Given the description of an element on the screen output the (x, y) to click on. 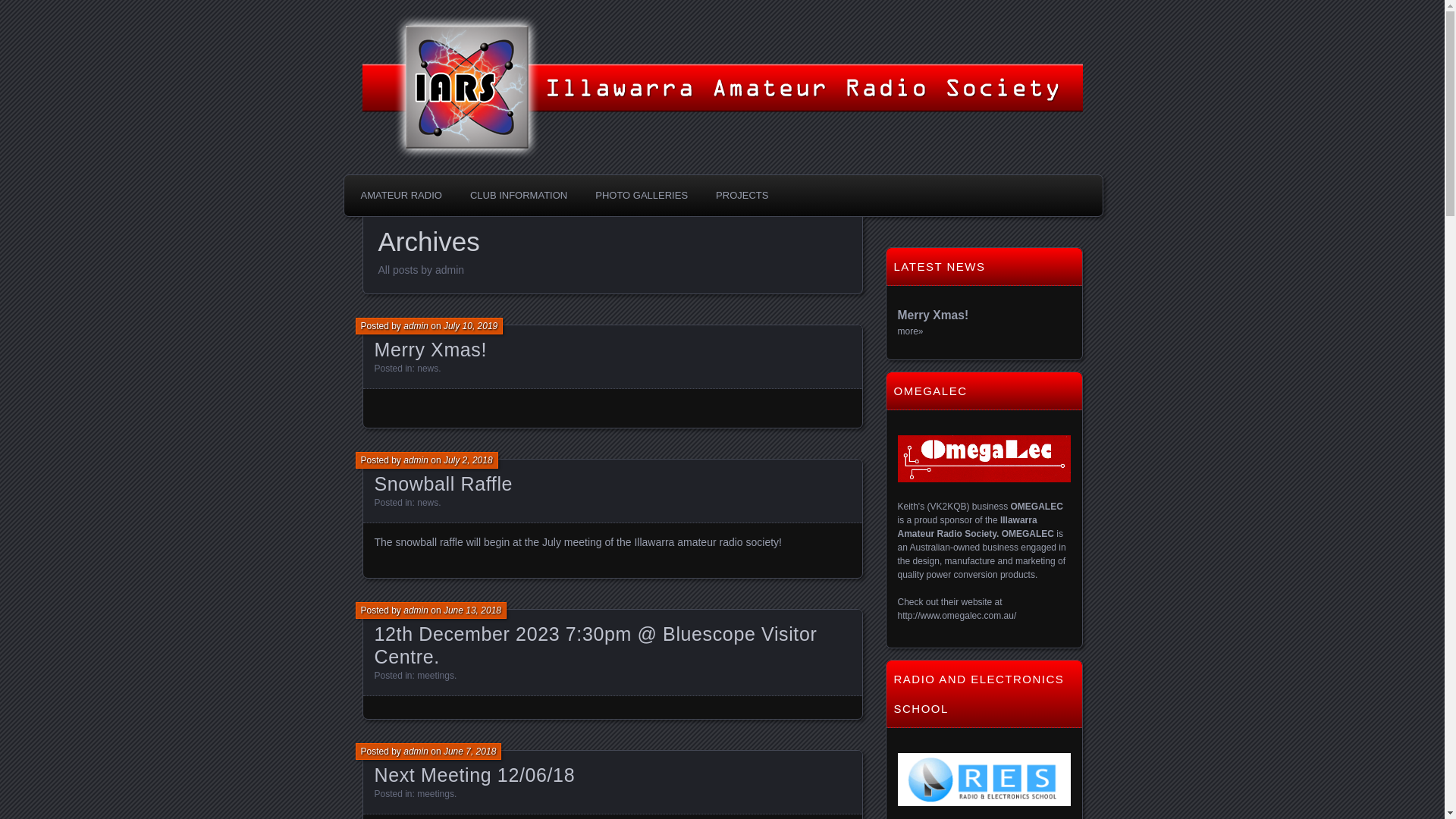
Merry Xmas! Element type: text (430, 349)
admin Element type: text (415, 460)
June 13, 2018 Element type: text (472, 610)
http://www.omegalec.com.au/ Element type: text (956, 615)
meetings Element type: text (435, 675)
CLUB INFORMATION Element type: text (518, 195)
news Element type: text (427, 368)
AMATEUR RADIO Element type: text (400, 195)
July 2, 2018 Element type: text (467, 460)
meetings Element type: text (435, 793)
admin Element type: text (415, 325)
admin Element type: text (415, 751)
June 7, 2018 Element type: text (469, 751)
Next Meeting 12/06/18 Element type: text (474, 774)
12th December 2023 7:30pm @ Bluescope Visitor Centre. Element type: text (595, 645)
The home of Amateur Radio in the Illawarra Element type: text (490, 20)
July 10, 2019 Element type: text (470, 325)
PROJECTS Element type: text (741, 195)
news Element type: text (427, 502)
Merry Xmas! Element type: text (933, 314)
PHOTO GALLERIES Element type: text (641, 195)
Snowball Raffle Element type: text (443, 483)
Illawarra Amateur Radio Society Element type: text (588, 44)
admin Element type: text (415, 610)
